Given the description of an element on the screen output the (x, y) to click on. 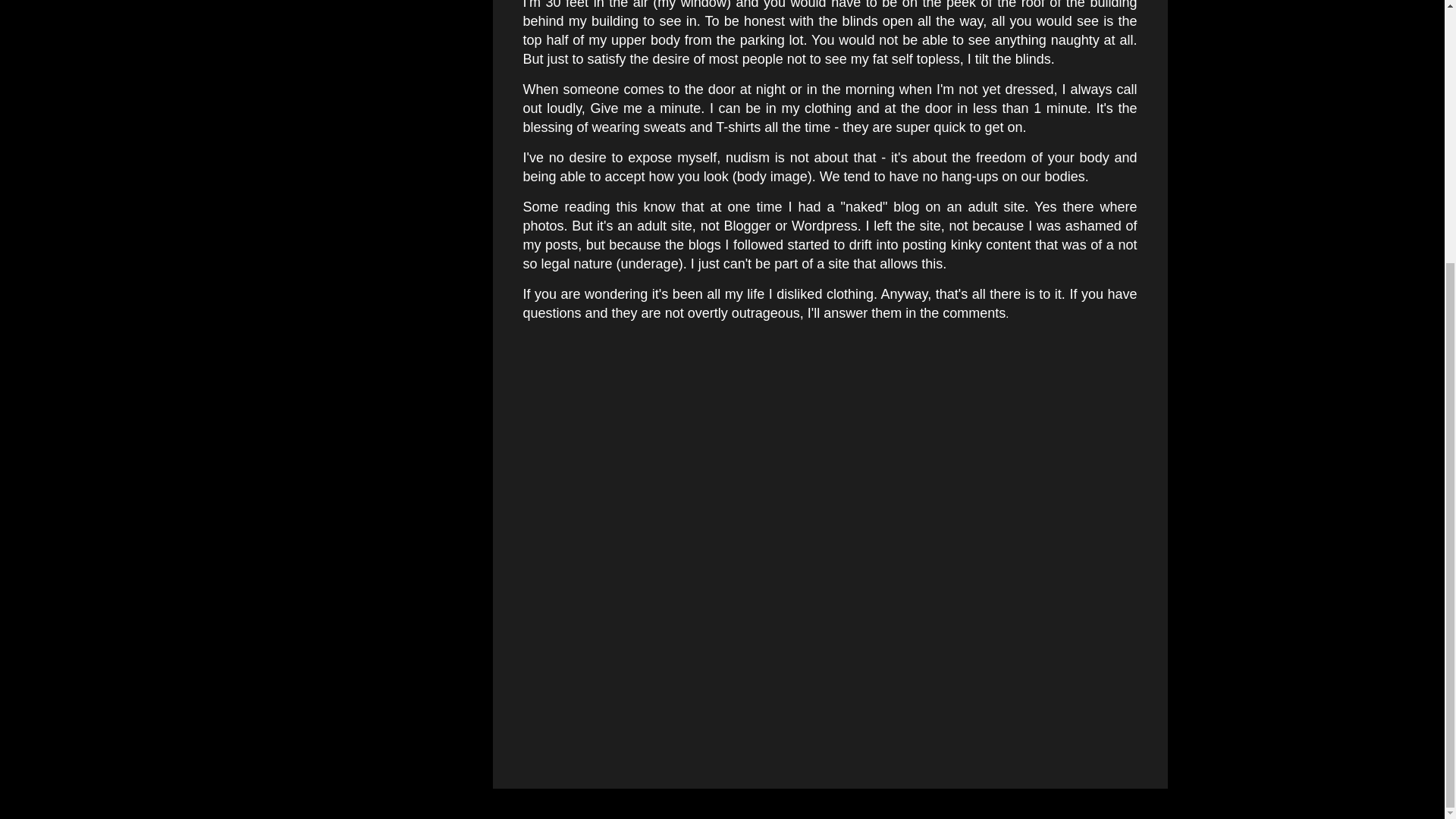
Email Post (562, 394)
